Given the description of an element on the screen output the (x, y) to click on. 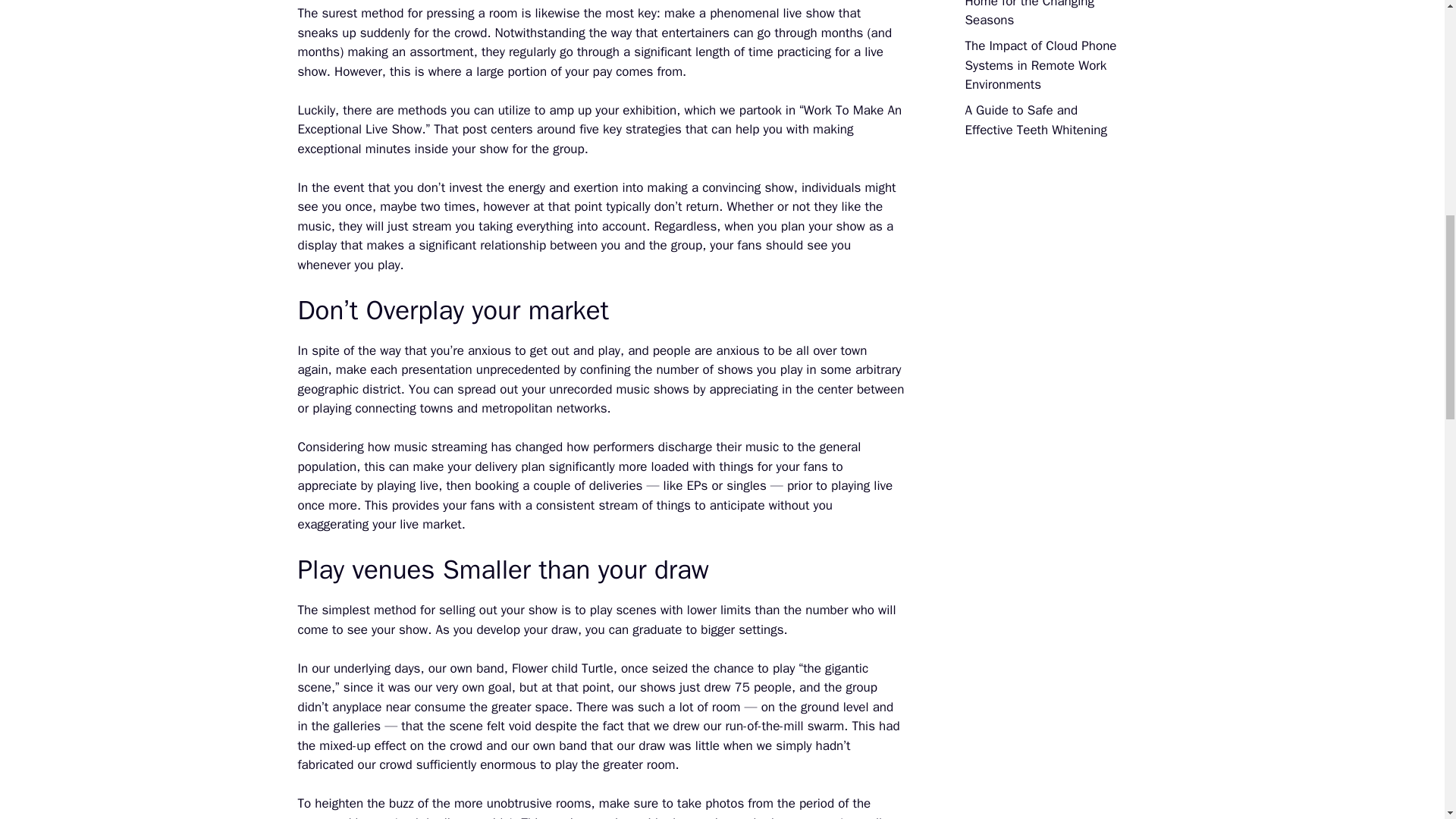
A Guide to Safe and Effective Teeth Whitening (1034, 120)
Scroll back to top (1406, 720)
Tips for Setting up Your Home for the Changing Seasons (1030, 13)
